Given the description of an element on the screen output the (x, y) to click on. 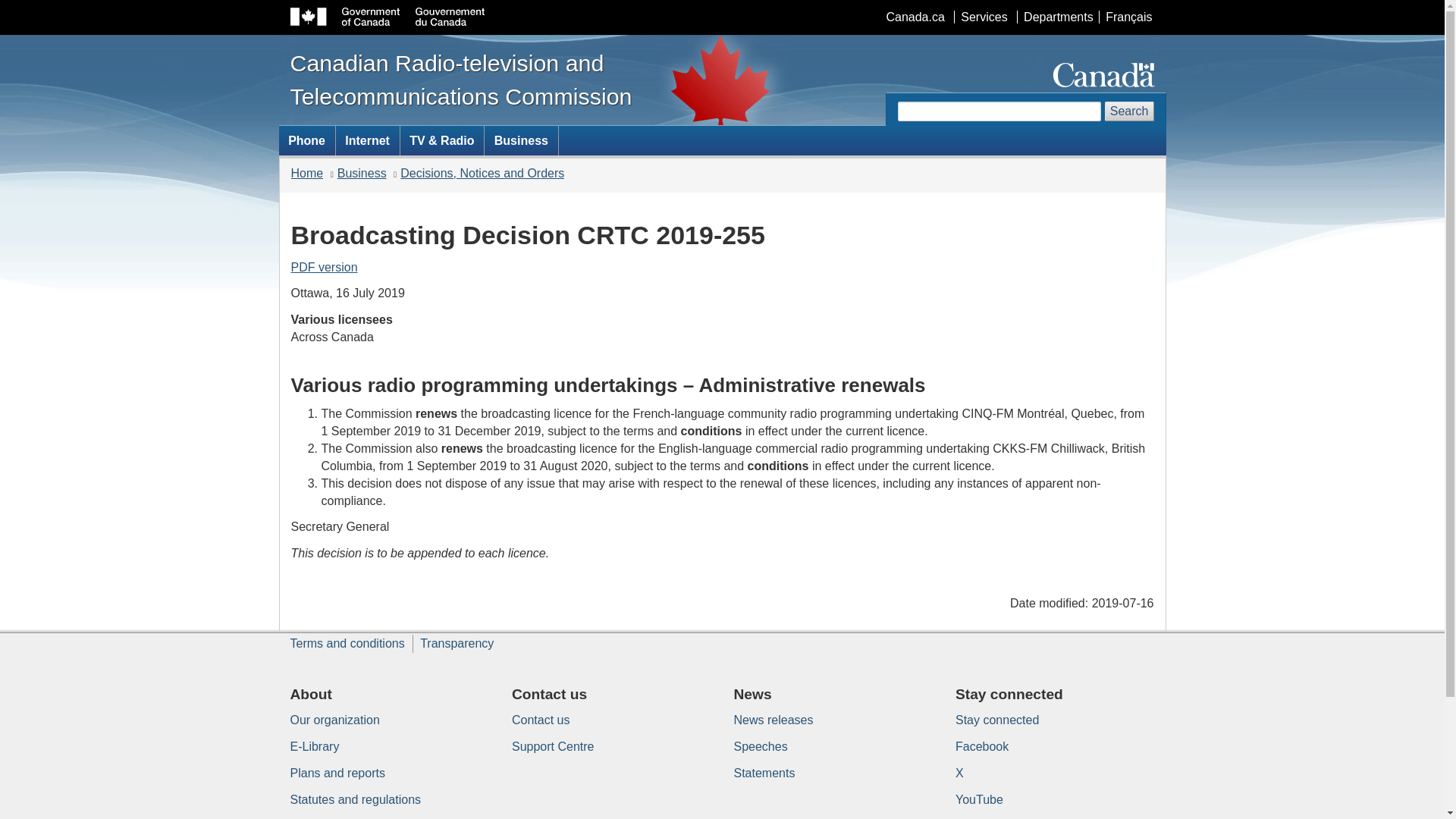
Decisions, Notices and Orders (482, 173)
Statutes and regulations (354, 799)
Phone (306, 140)
Services (983, 16)
Speeches (760, 746)
Home (307, 173)
Search (1129, 111)
Terms and conditions (346, 643)
Canadian Radio-television and Telecommunications Commission (463, 79)
News releases (773, 719)
